Given the description of an element on the screen output the (x, y) to click on. 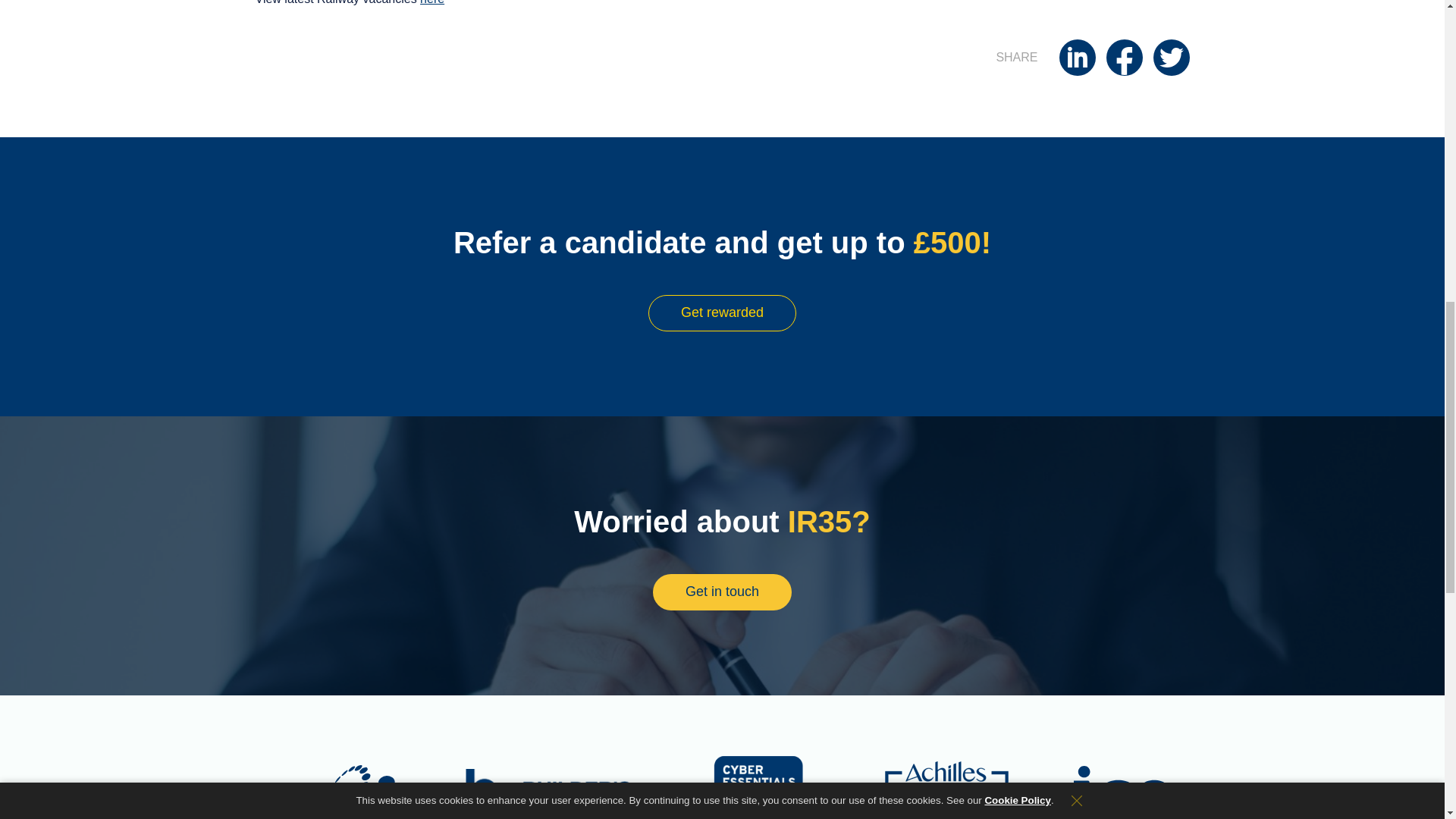
Get in touch (722, 592)
Get rewarded (721, 312)
here (432, 2)
